Given the description of an element on the screen output the (x, y) to click on. 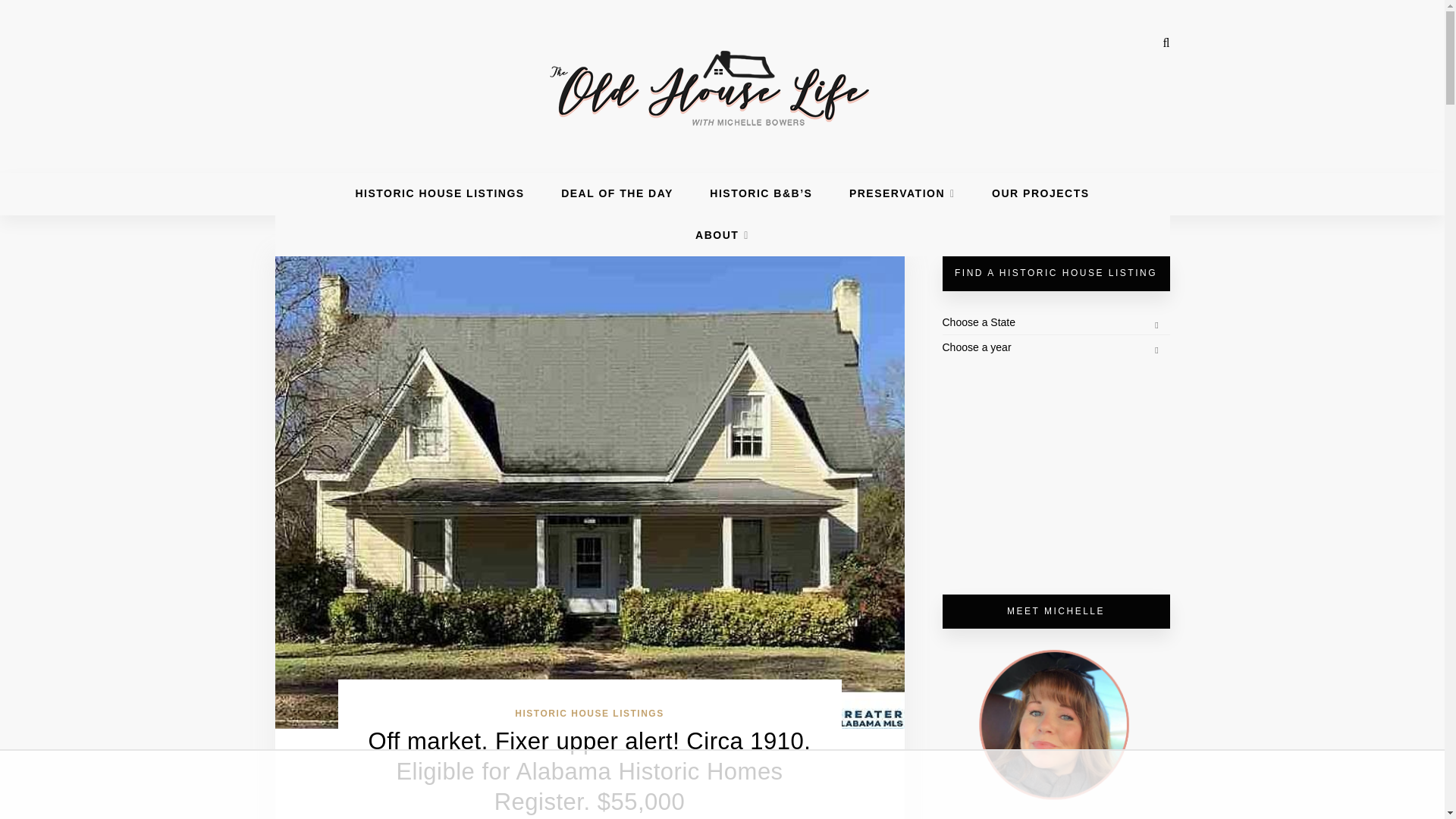
PRESERVATION (901, 193)
HISTORIC HOUSE LISTINGS (439, 192)
OUR PROJECTS (1040, 192)
DEAL OF THE DAY (616, 192)
ABOUT (722, 235)
HISTORIC HOUSE LISTINGS (589, 713)
